Given the description of an element on the screen output the (x, y) to click on. 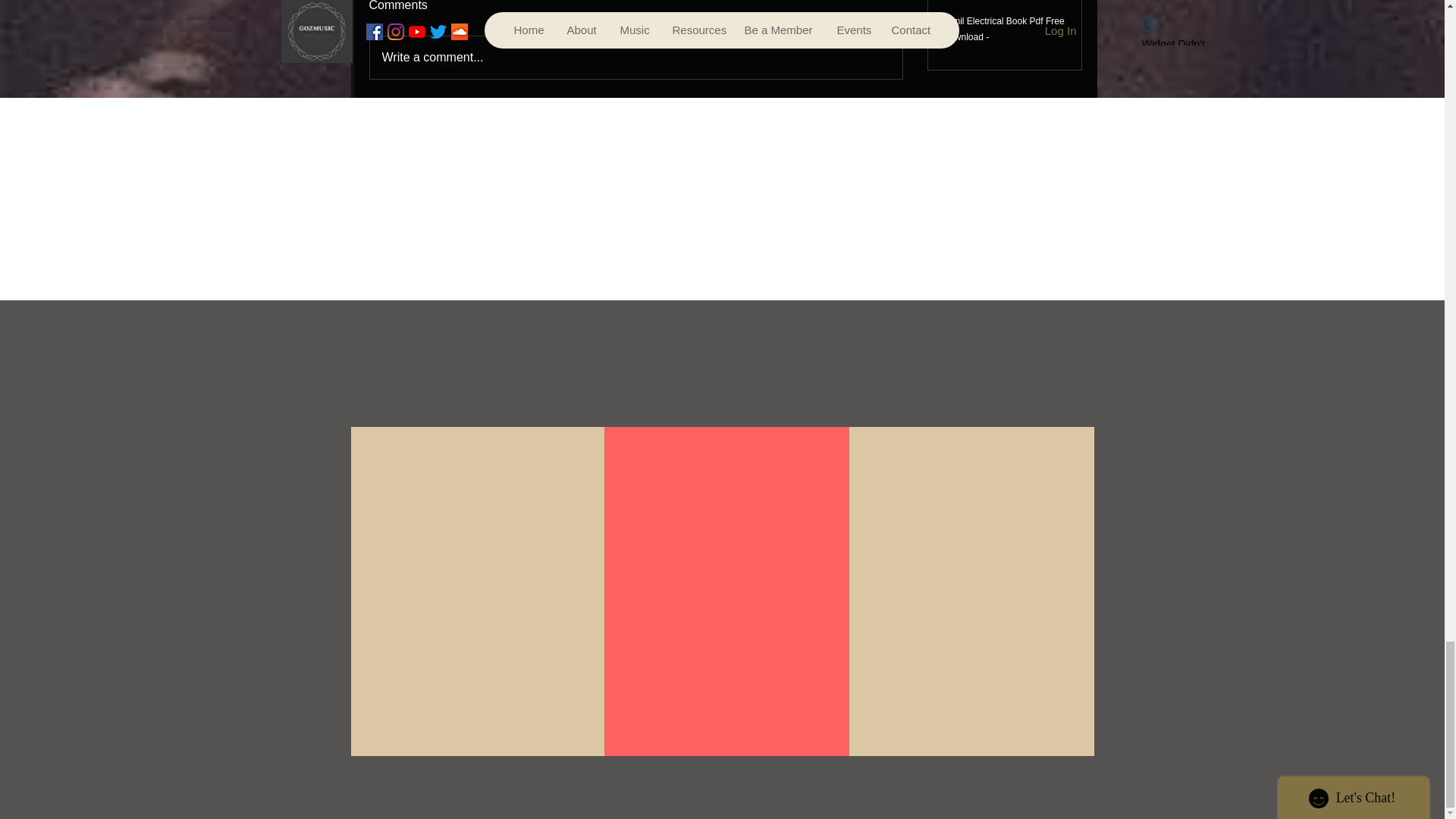
Write a comment... (635, 57)
